Given the description of an element on the screen output the (x, y) to click on. 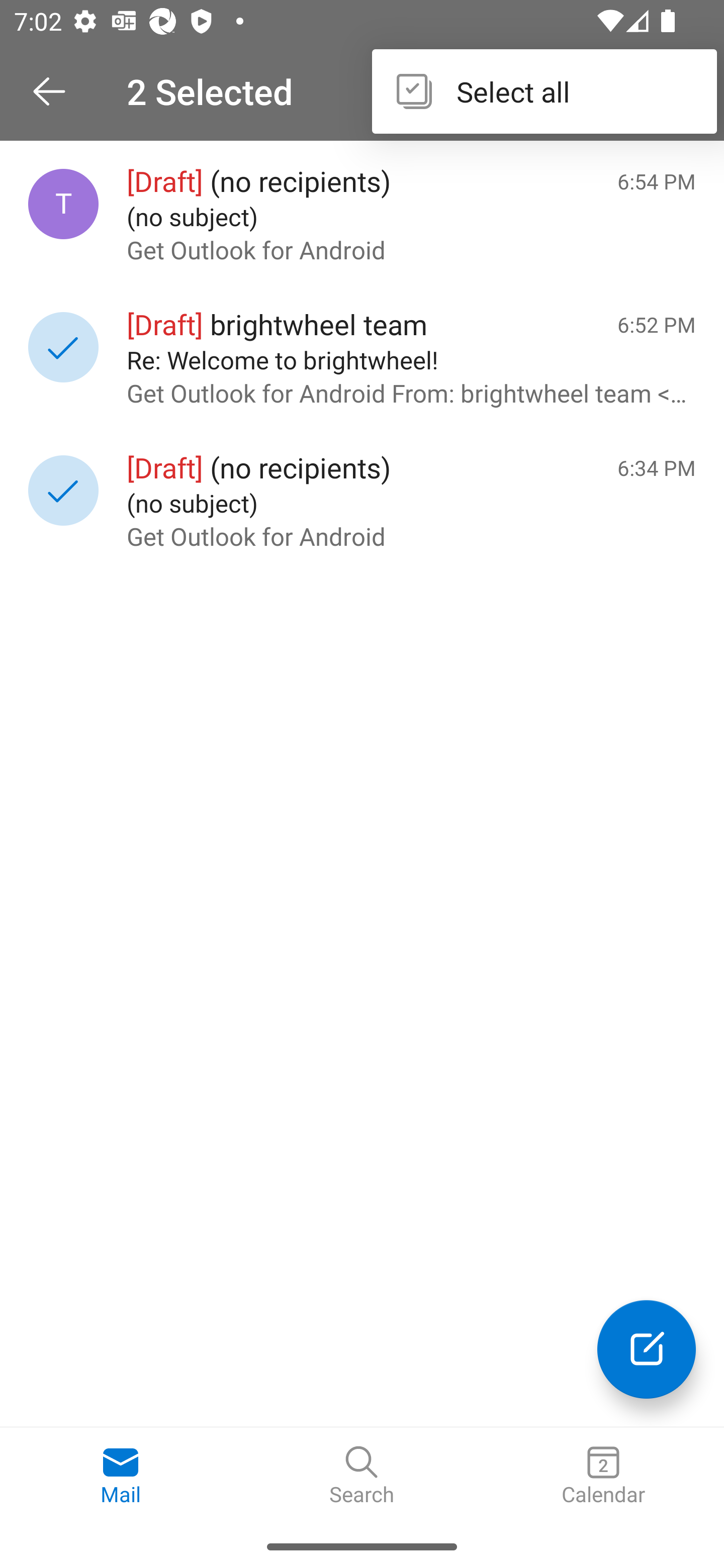
Select all (544, 90)
